Given the description of an element on the screen output the (x, y) to click on. 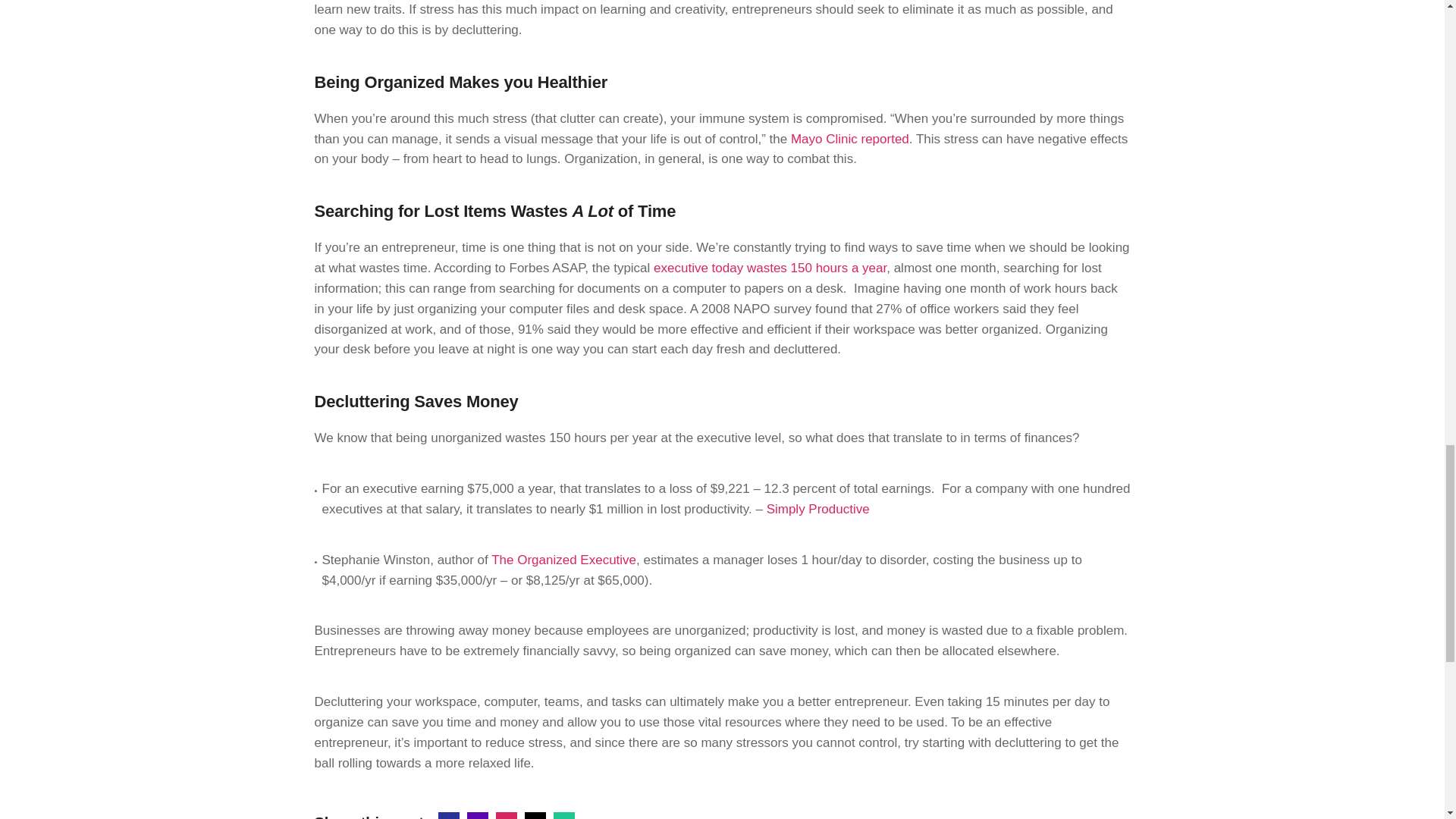
Twitter-x (535, 815)
Facebook (449, 815)
Flipboard (506, 815)
Linkedin (477, 815)
Whatsapp (564, 815)
